Given the description of an element on the screen output the (x, y) to click on. 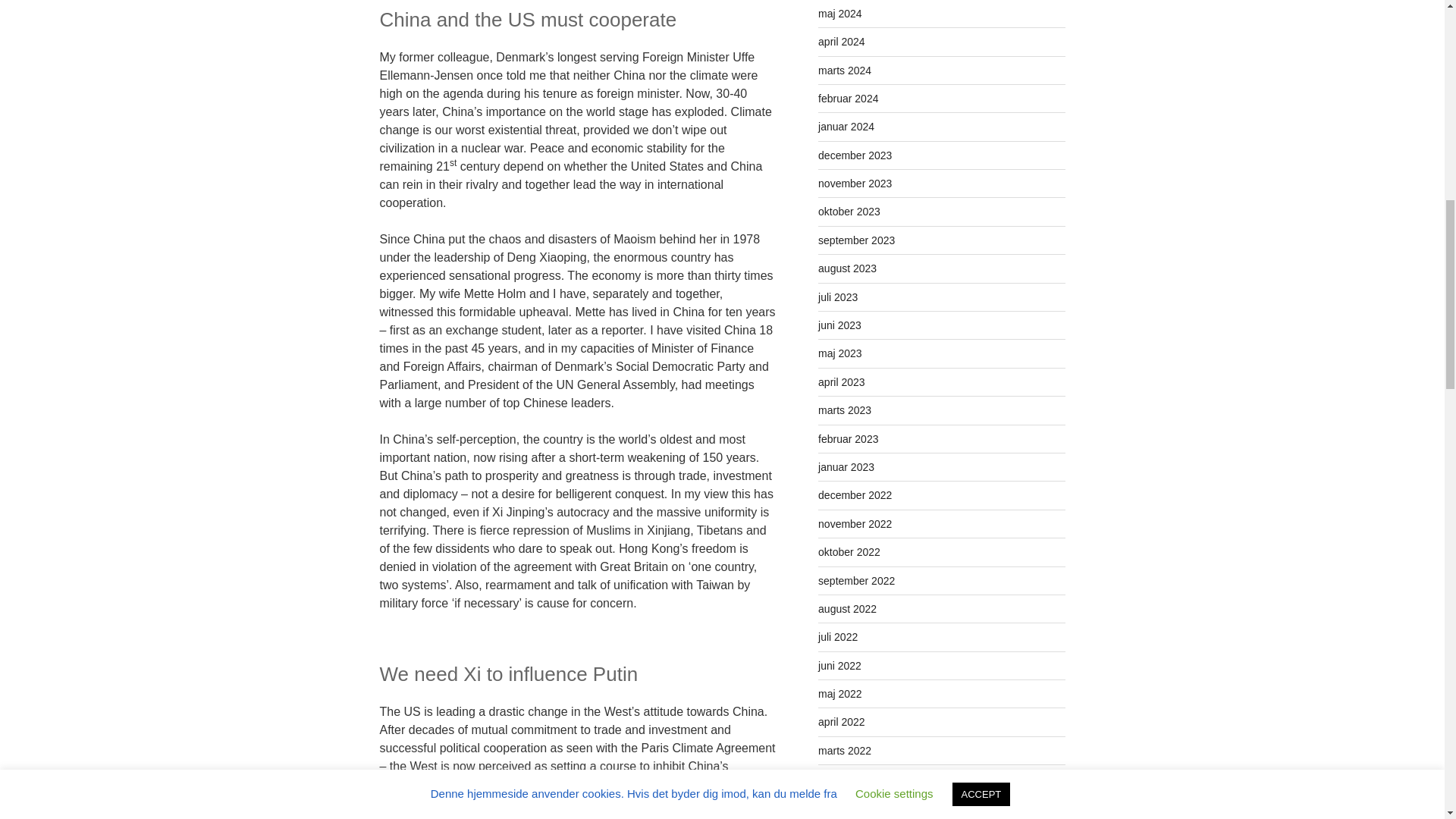
november 2023 (854, 183)
maj 2023 (839, 353)
juni 2023 (839, 325)
august 2023 (847, 268)
december 2023 (854, 155)
december 2022 (854, 494)
september 2023 (856, 240)
marts 2024 (844, 69)
april 2023 (841, 381)
februar 2024 (847, 98)
marts 2023 (844, 410)
januar 2023 (846, 467)
juli 2023 (837, 297)
oktober 2023 (849, 211)
april 2024 (841, 41)
